Given the description of an element on the screen output the (x, y) to click on. 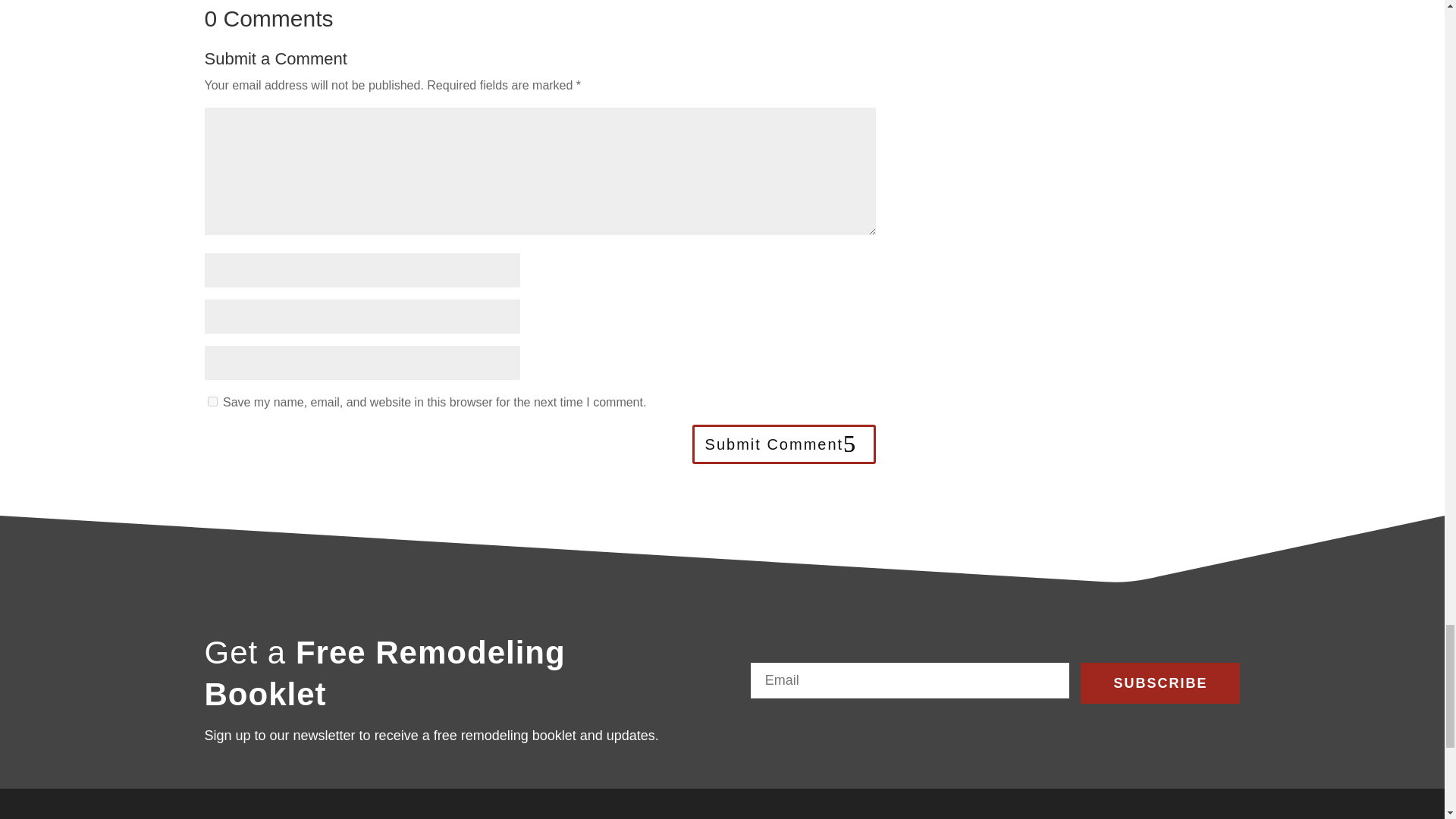
yes (212, 401)
